Given the description of an element on the screen output the (x, y) to click on. 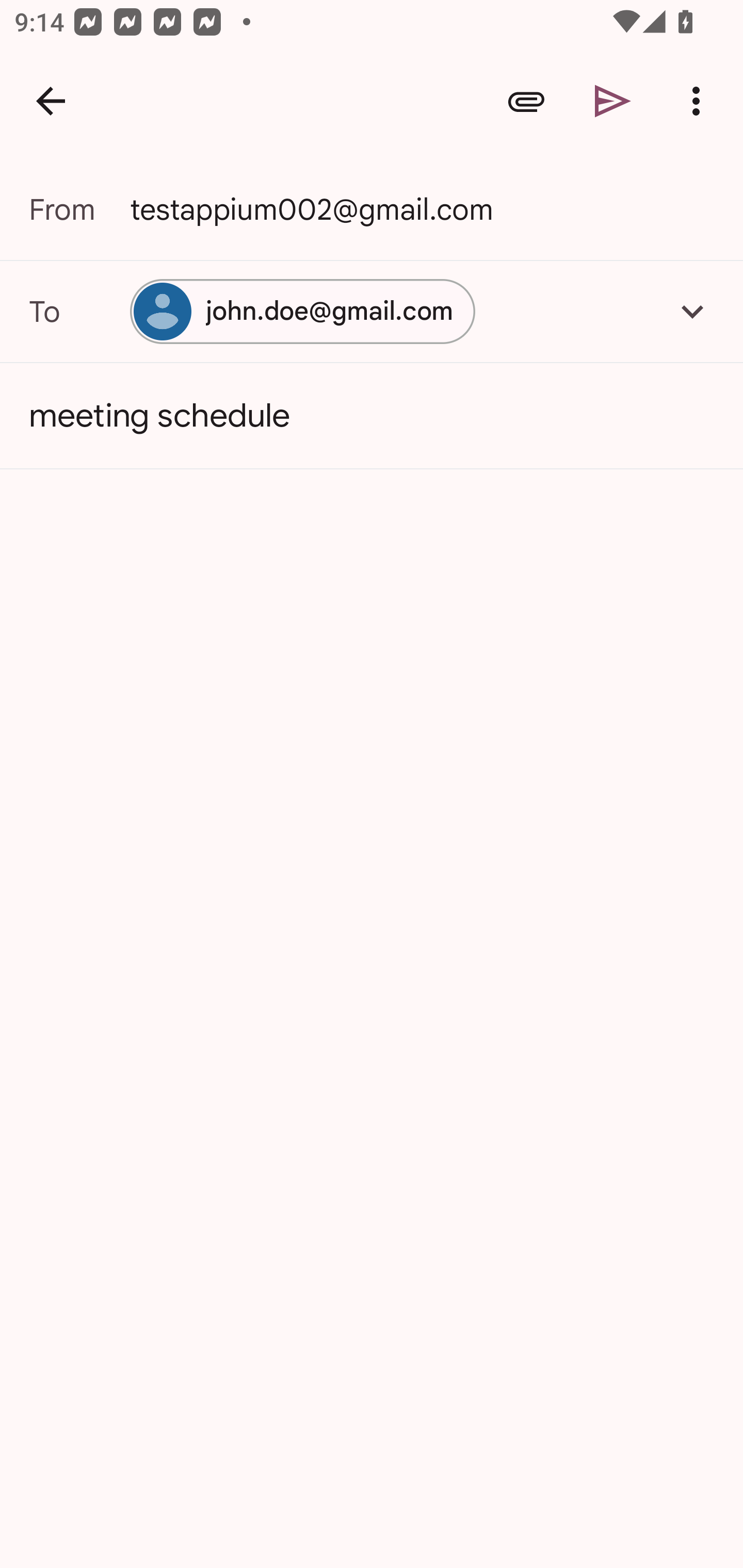
Navigate up (50, 101)
Attach file (525, 101)
Send (612, 101)
More options (699, 101)
From (79, 209)
Add Cc/Bcc (692, 311)
meeting schedule (371, 415)
